Given the description of an element on the screen output the (x, y) to click on. 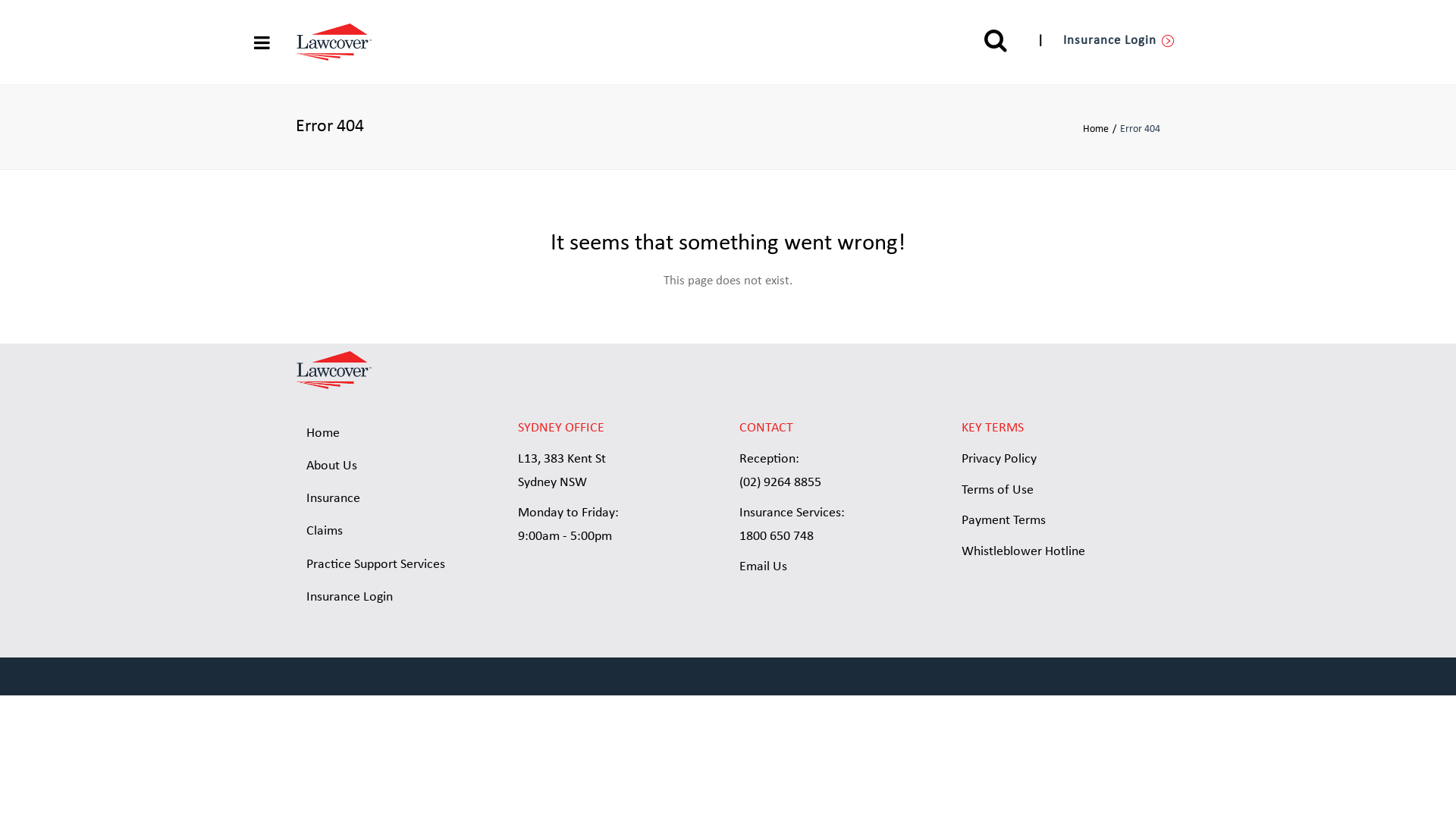
Home Element type: text (1101, 128)
Insurance Login Element type: text (1119, 40)
Terms of Use Element type: text (997, 490)
Search Element type: text (995, 40)
Home Element type: text (395, 433)
Claims Element type: text (395, 531)
Insurance Login Element type: text (395, 597)
About Us Element type: text (395, 466)
Insurance Element type: text (395, 498)
Privacy Policy Element type: text (998, 458)
Payment Terms Element type: text (1003, 520)
Practice Support Services Element type: text (395, 564)
Email Us Element type: text (763, 566)
Whistleblower Hotline Element type: text (1023, 551)
